Given the description of an element on the screen output the (x, y) to click on. 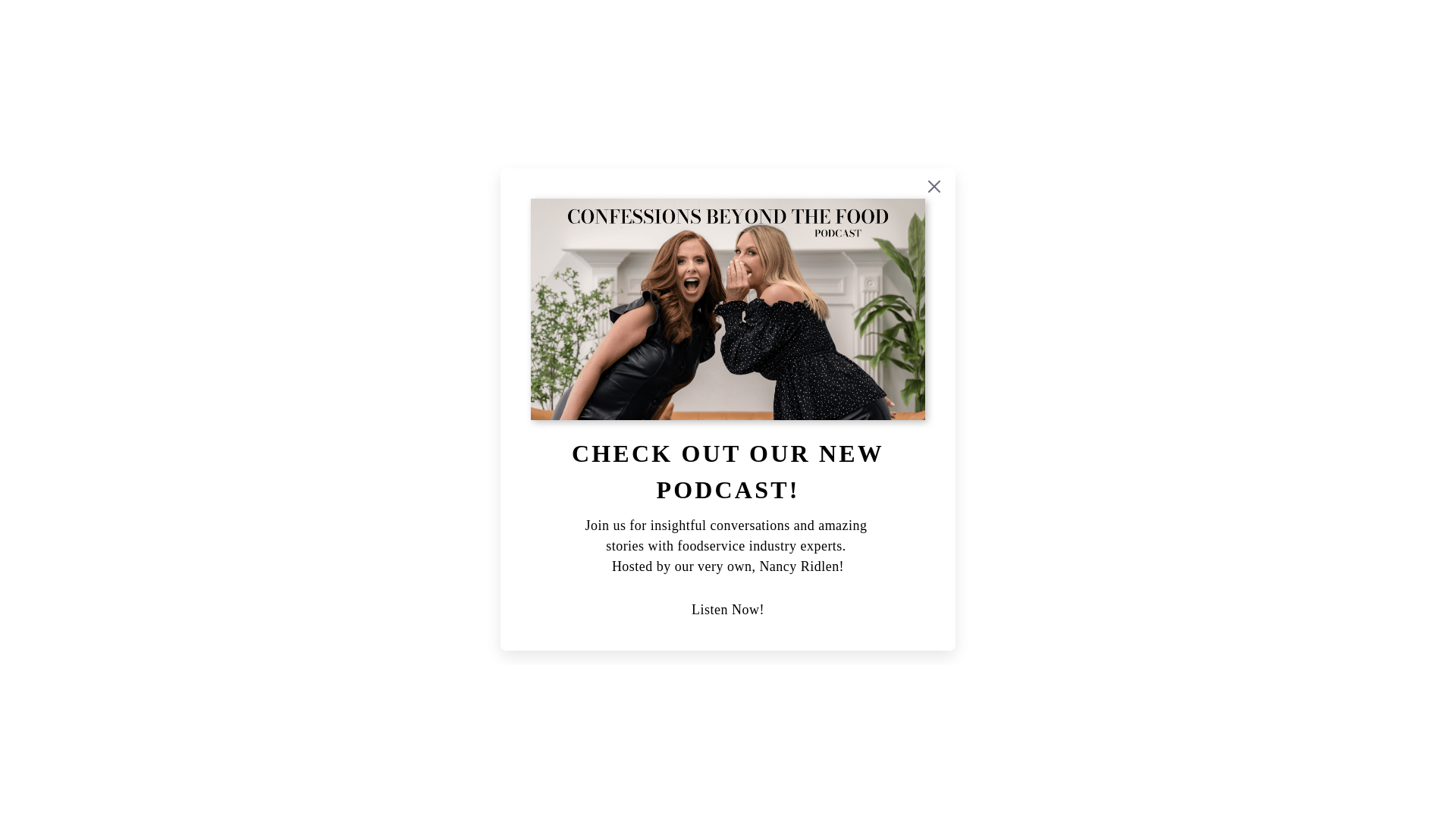
YouTube Account (1341, 37)
OUR BRANDS (705, 37)
SHOP (604, 37)
PODCAST (1051, 37)
CONTACT (1153, 37)
Home Page (127, 37)
ABOUT (810, 37)
1 (831, 466)
